Given the description of an element on the screen output the (x, y) to click on. 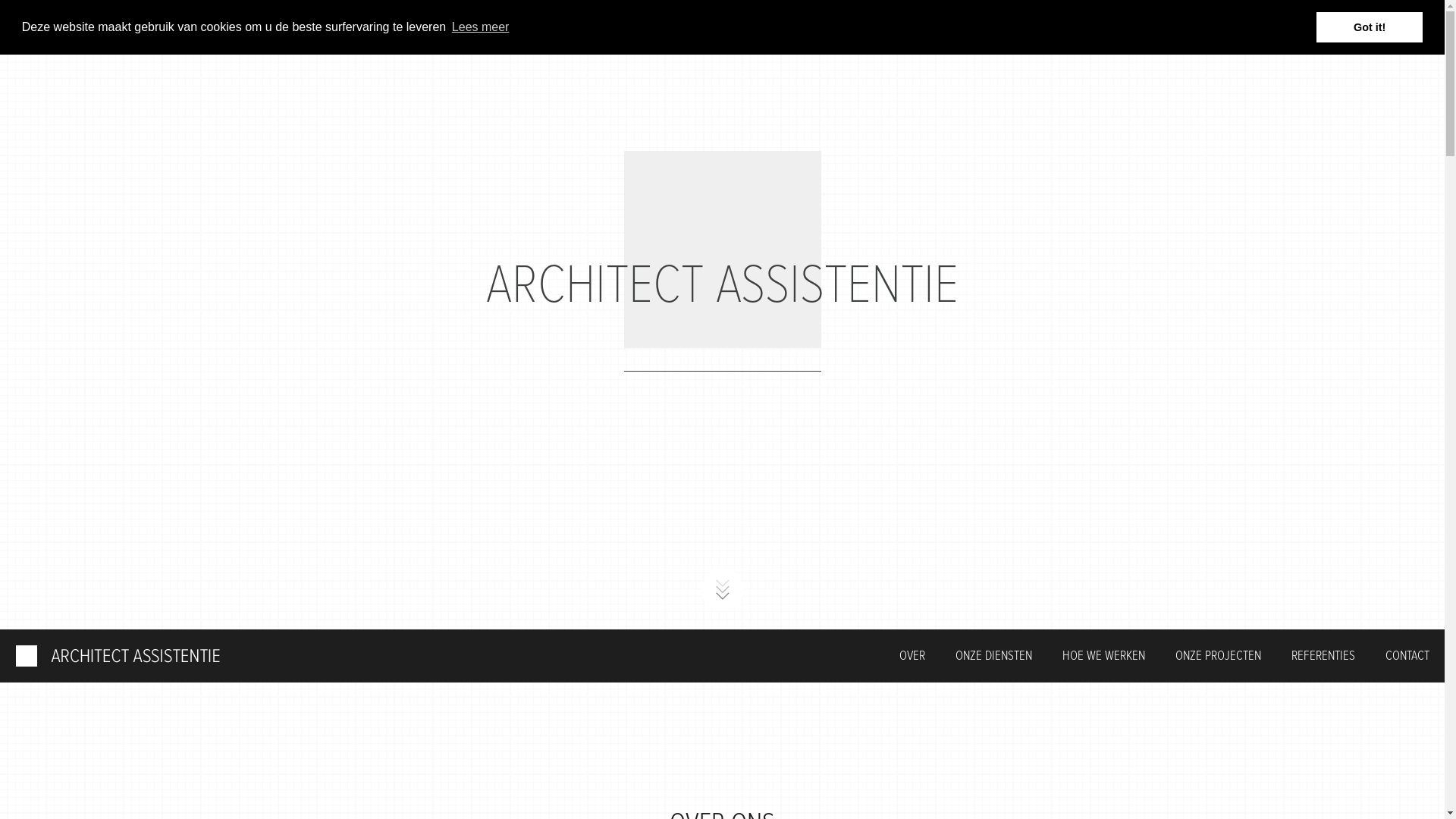
Got it! Element type: text (1369, 27)
CONTACT Element type: text (1407, 656)
ONZE PROJECTEN Element type: text (1218, 656)
Lees meer Element type: text (480, 26)
HOE WE WERKEN Element type: text (1103, 656)
OVER Element type: text (912, 656)
ONZE DIENSTEN Element type: text (993, 656)
REFERENTIES Element type: text (1323, 656)
